Given the description of an element on the screen output the (x, y) to click on. 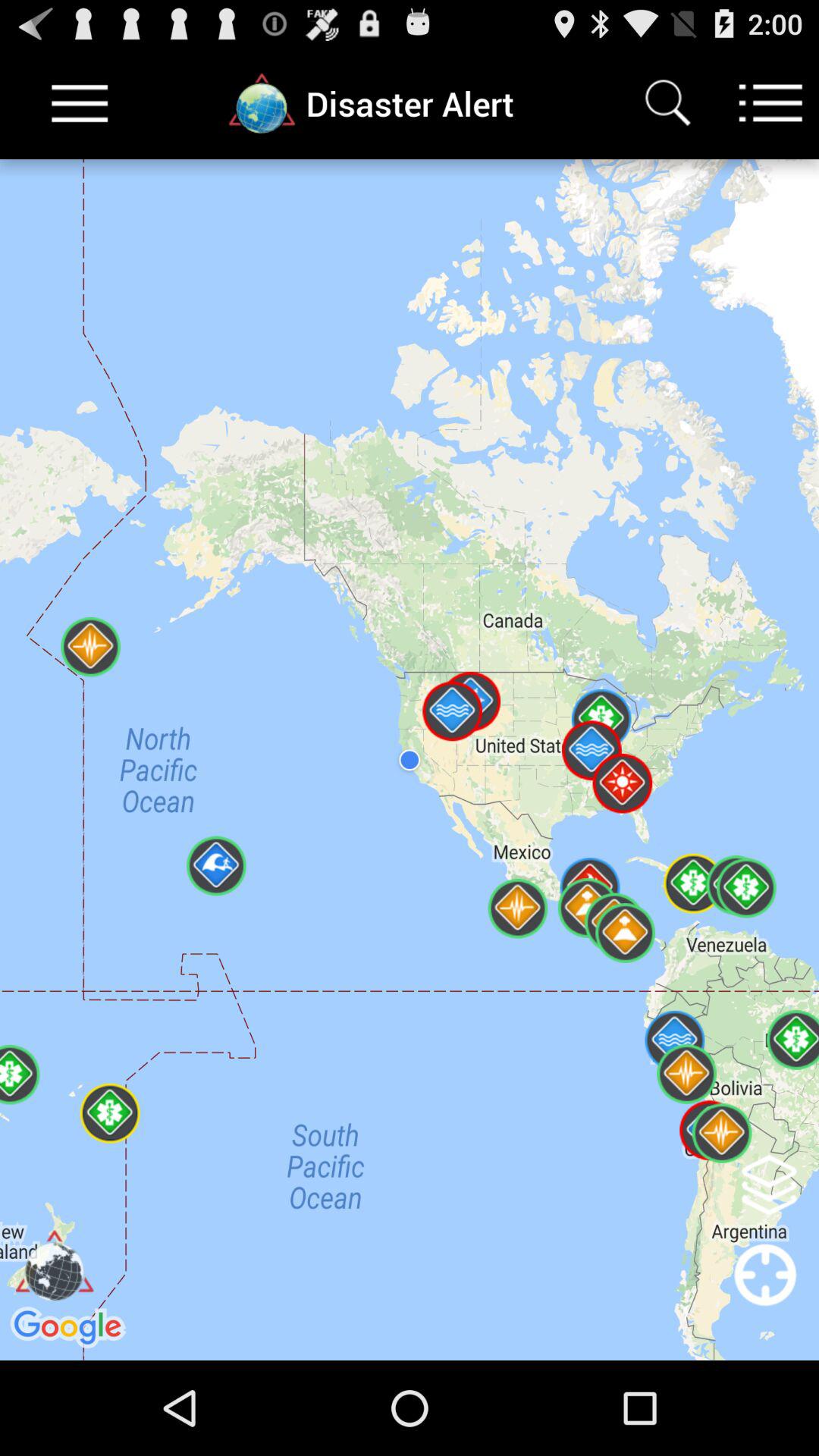
choose item next to the disaster alert item (667, 102)
